Given the description of an element on the screen output the (x, y) to click on. 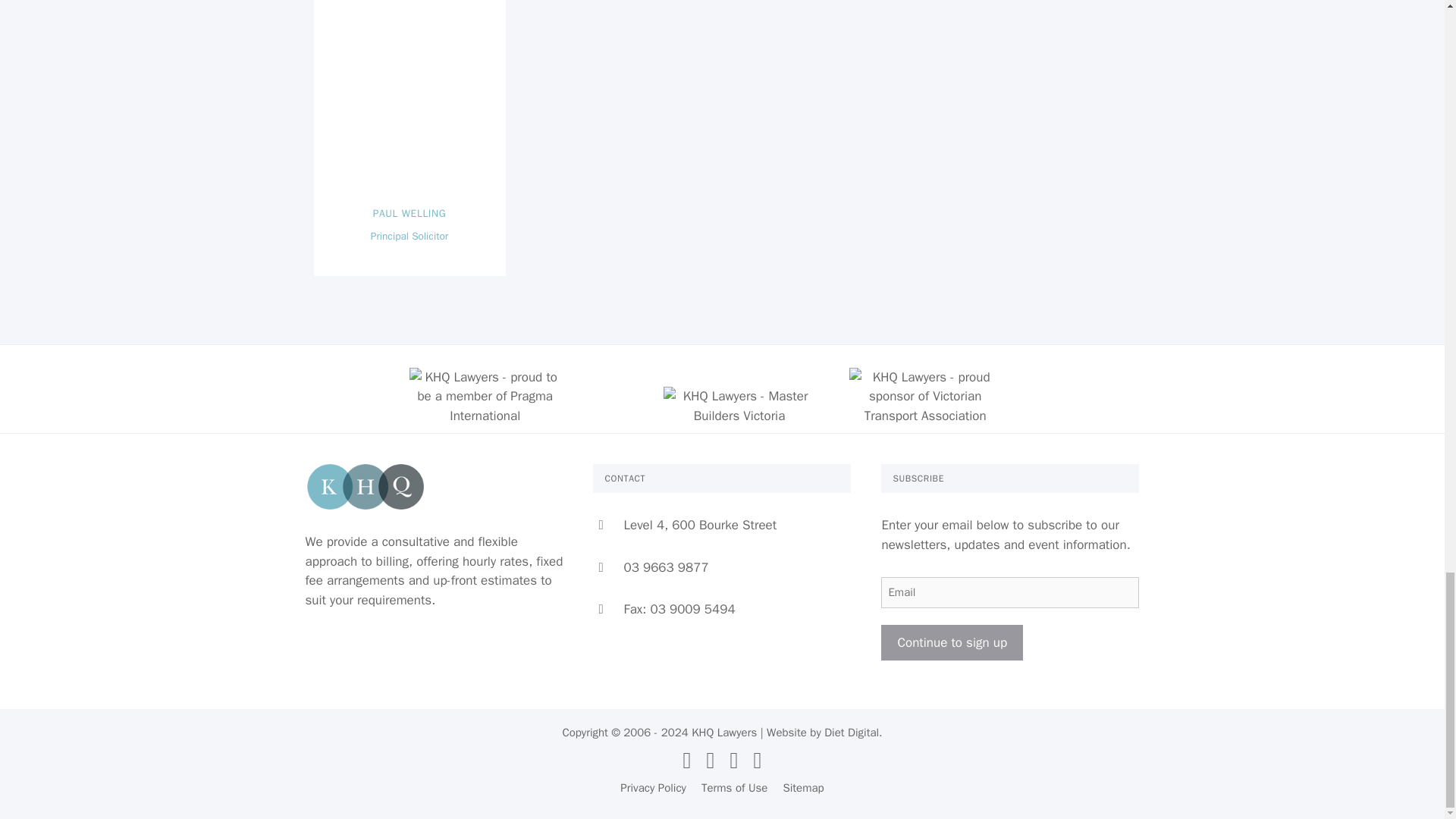
Continue to sign up (951, 642)
